Given the description of an element on the screen output the (x, y) to click on. 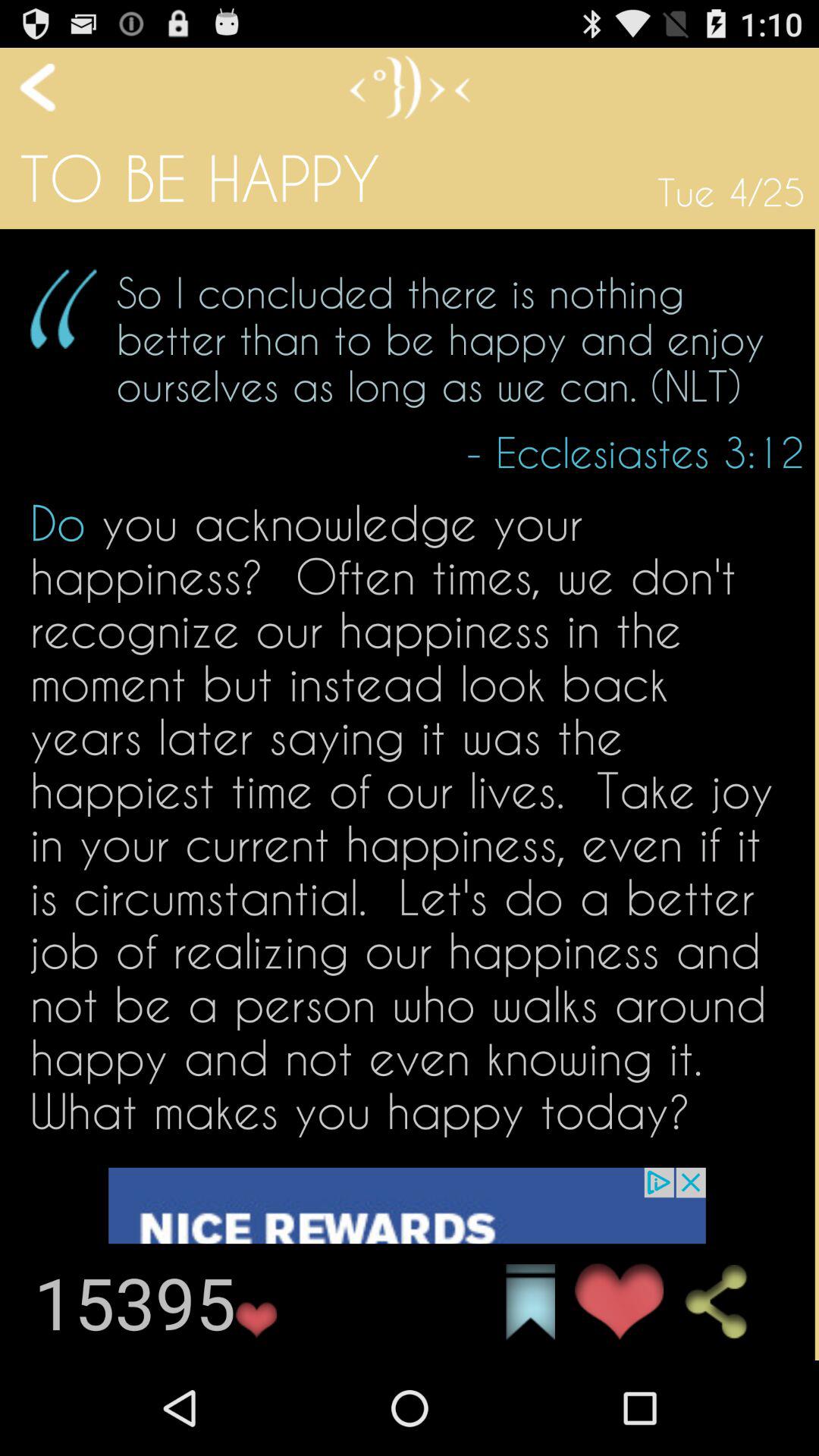
go to search (729, 1301)
